Given the description of an element on the screen output the (x, y) to click on. 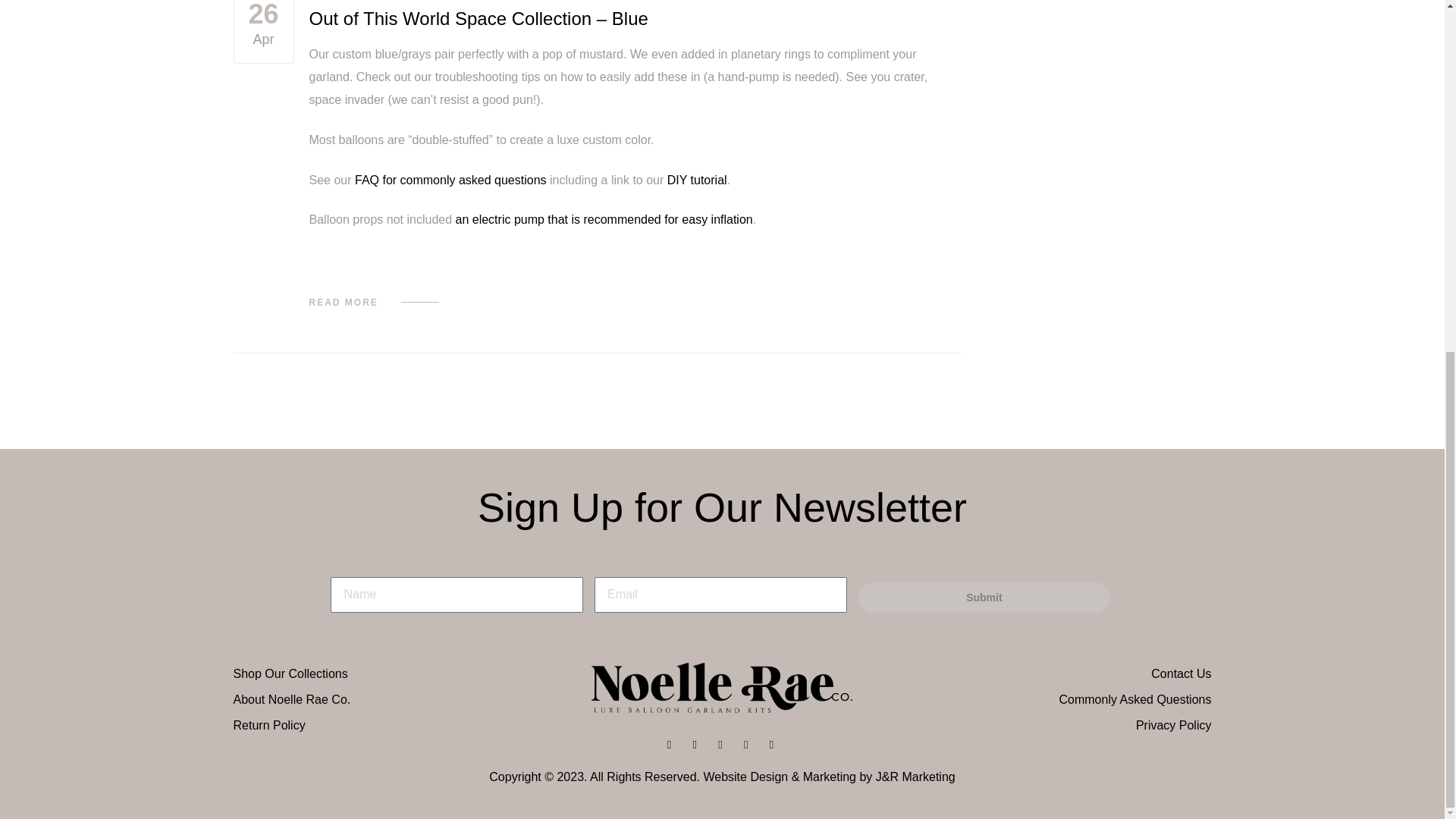
an electric pump that is recommended for easy inflation (601, 219)
FAQ for commonly asked questions (451, 179)
Shop Our Collections (395, 673)
READ MORE (373, 302)
DIY tutorial (263, 31)
Submit (696, 179)
